Given the description of an element on the screen output the (x, y) to click on. 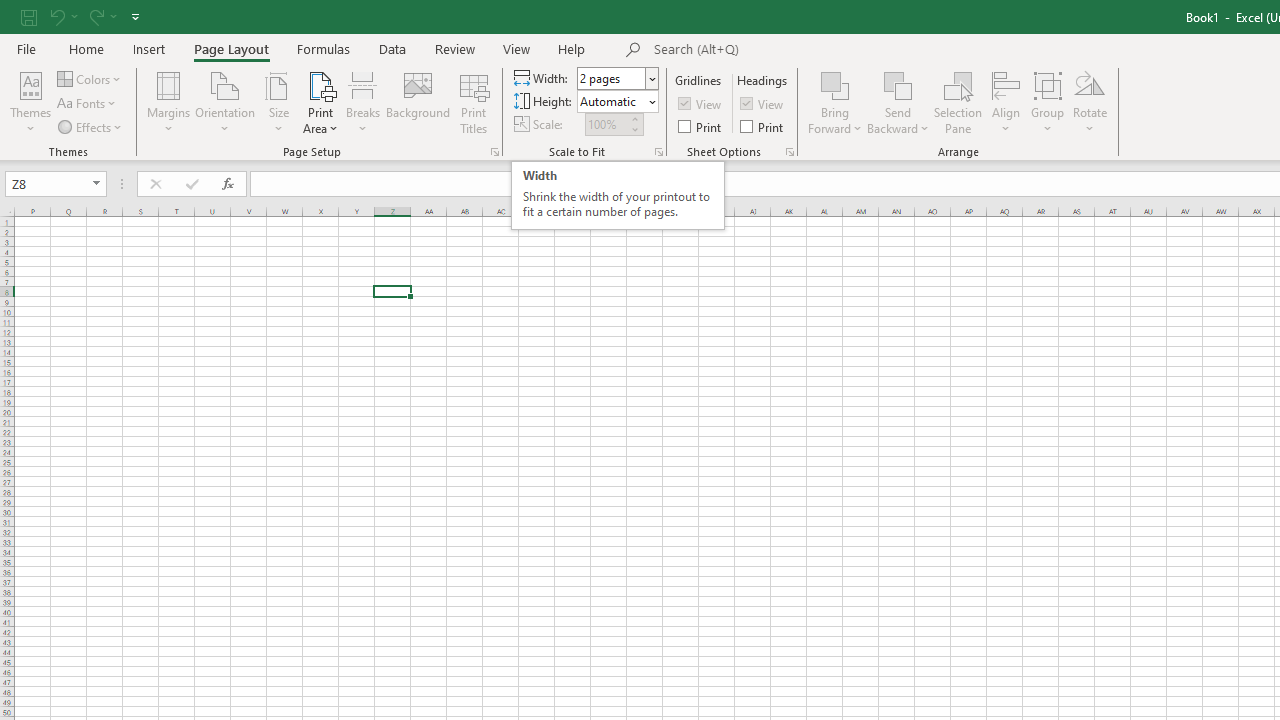
View (517, 48)
Home (86, 48)
Formulas (323, 48)
Align (1005, 102)
Width (618, 78)
Undo (56, 15)
More Options (898, 121)
Height (618, 101)
Bring Forward (835, 102)
Bring Forward (835, 84)
Save (29, 15)
Sheet Options (789, 151)
File Tab (26, 48)
Effects (91, 126)
